Given the description of an element on the screen output the (x, y) to click on. 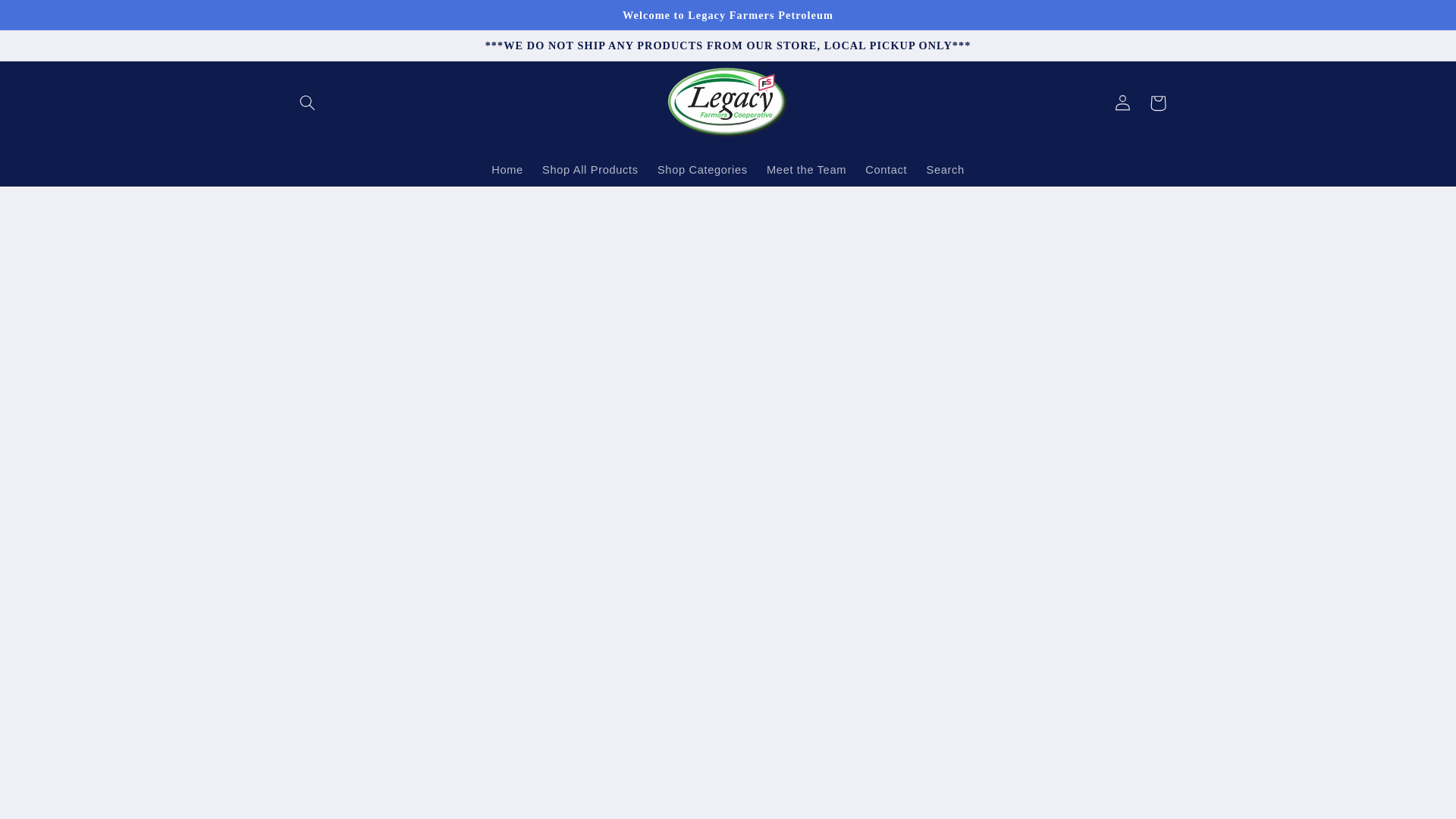
Search (945, 169)
Shop All Products (589, 169)
Log in (1122, 102)
Meet the Team (806, 169)
Home (506, 169)
Cart (1157, 102)
Shop Categories (702, 169)
Contact (886, 169)
Skip to content (48, 18)
